Given the description of an element on the screen output the (x, y) to click on. 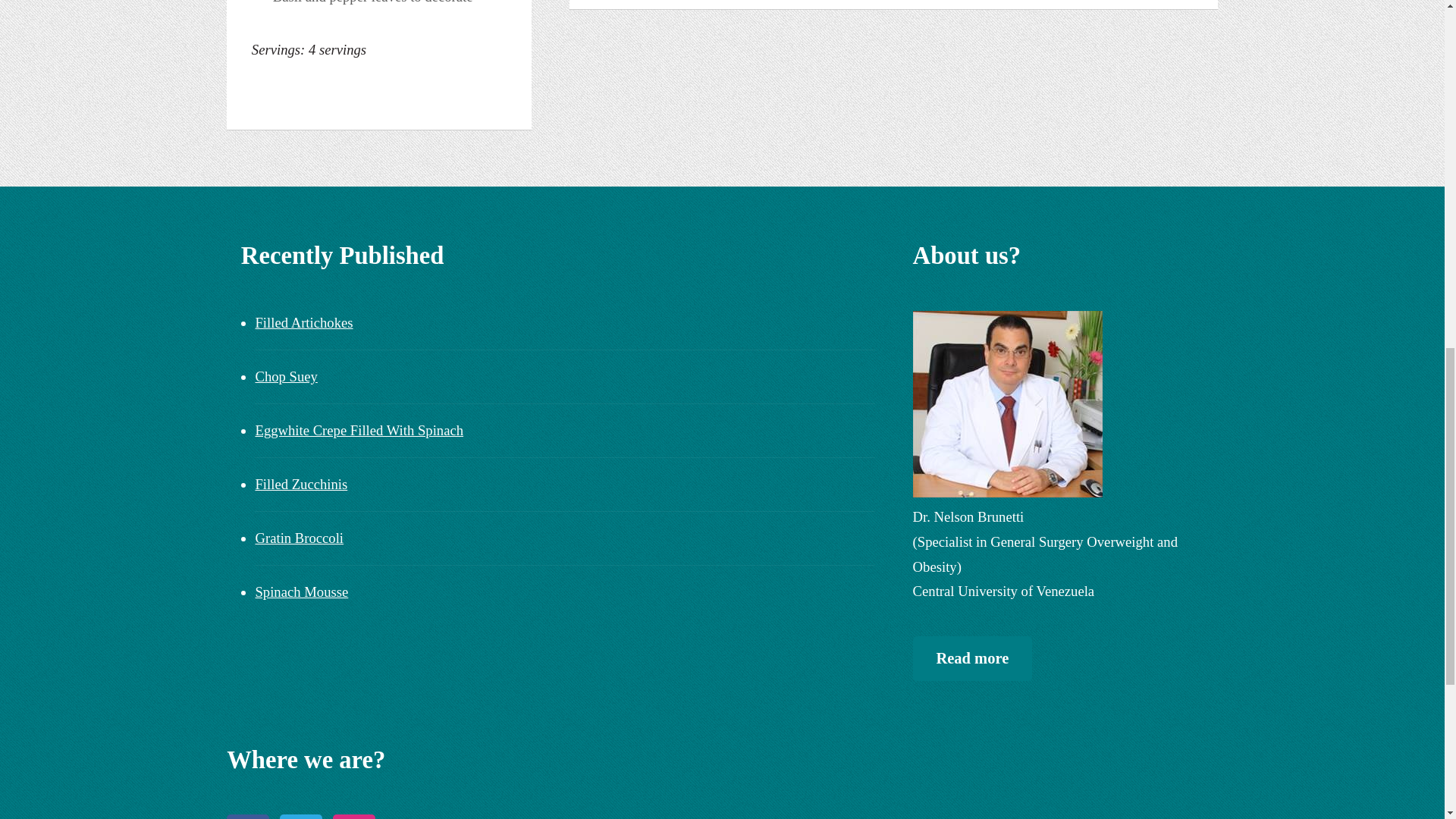
Read more (972, 658)
Spinach Mousse (300, 591)
Filled Artichokes (303, 322)
Chop Suey (285, 376)
Gratin Broccoli (298, 537)
Eggwhite Crepe Filled With Spinach (358, 430)
Filled Zucchinis (300, 483)
